Given the description of an element on the screen output the (x, y) to click on. 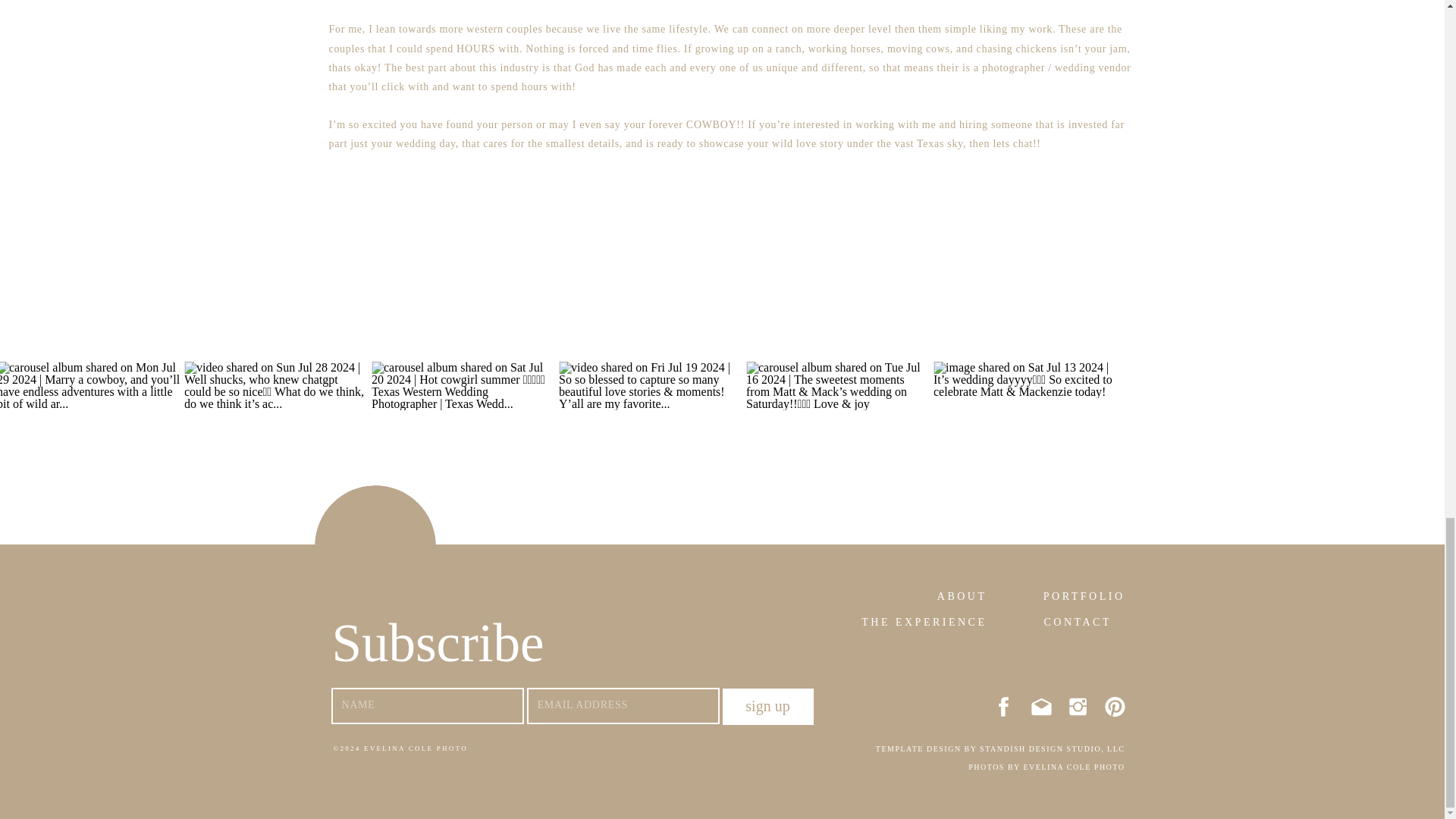
Open Post (1048, 240)
